Given the description of an element on the screen output the (x, y) to click on. 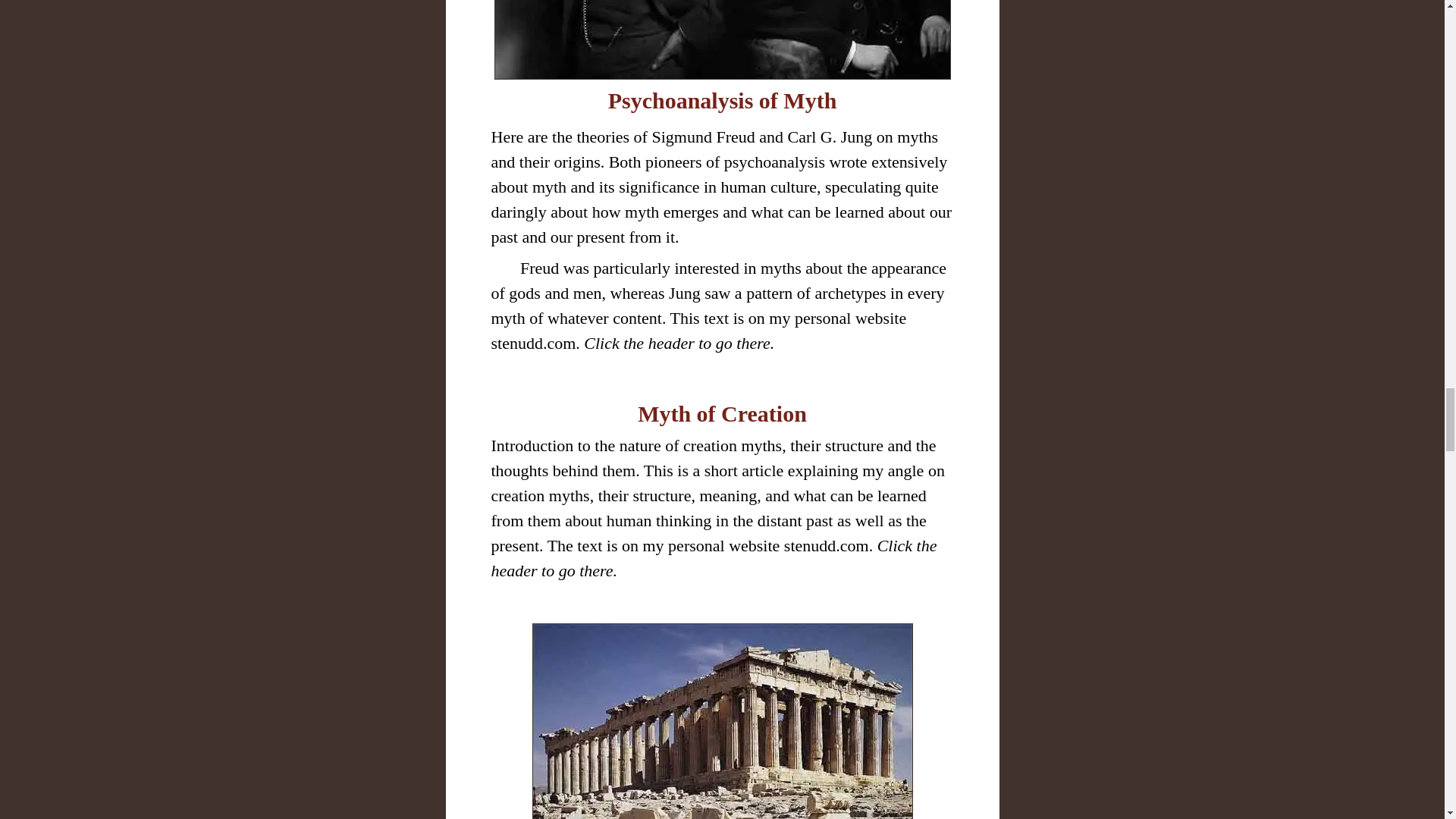
Myth of Creation (721, 413)
Psychoanalysis of Myth (722, 100)
